Given the description of an element on the screen output the (x, y) to click on. 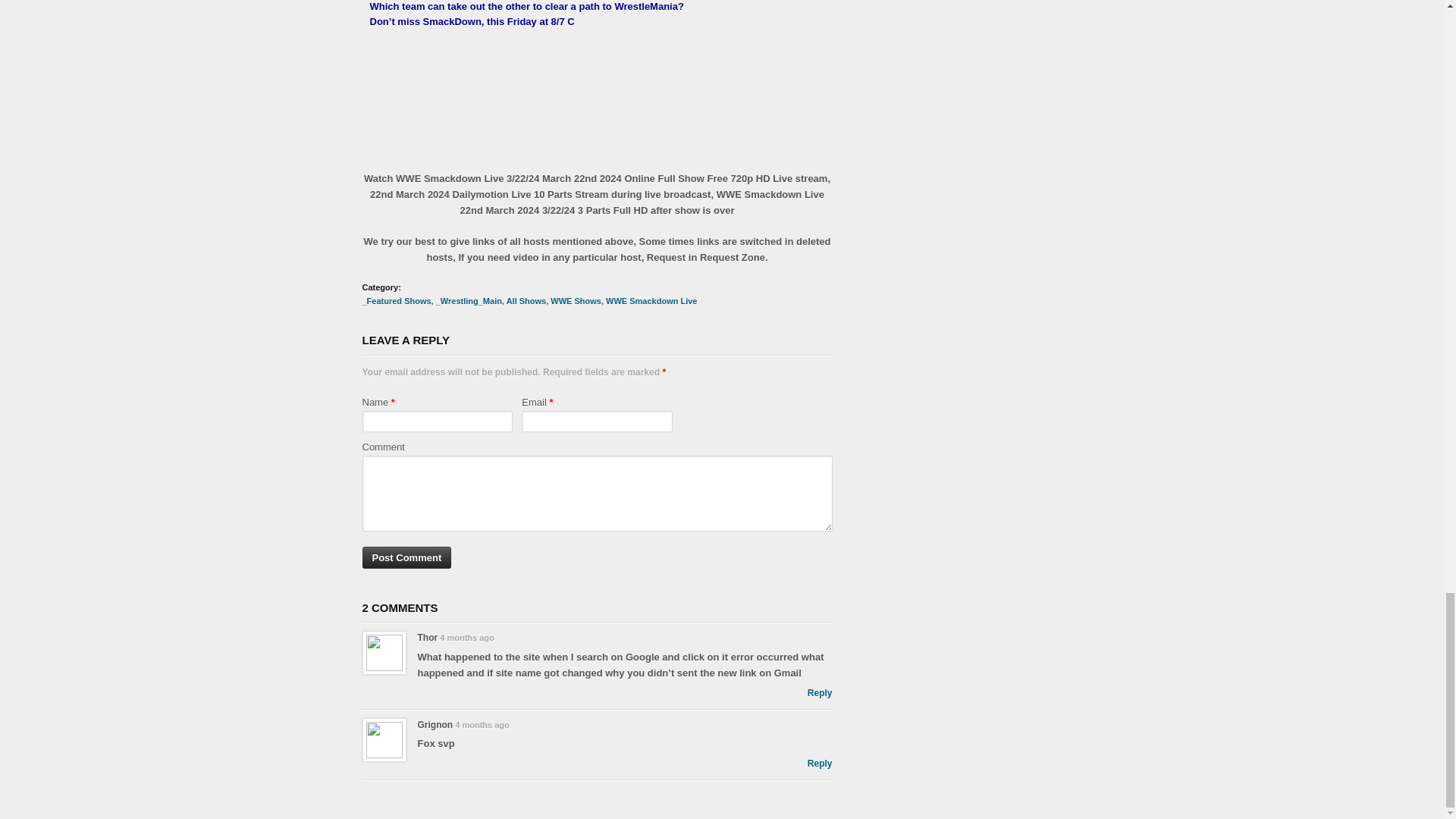
Post Comment (406, 557)
